Given the description of an element on the screen output the (x, y) to click on. 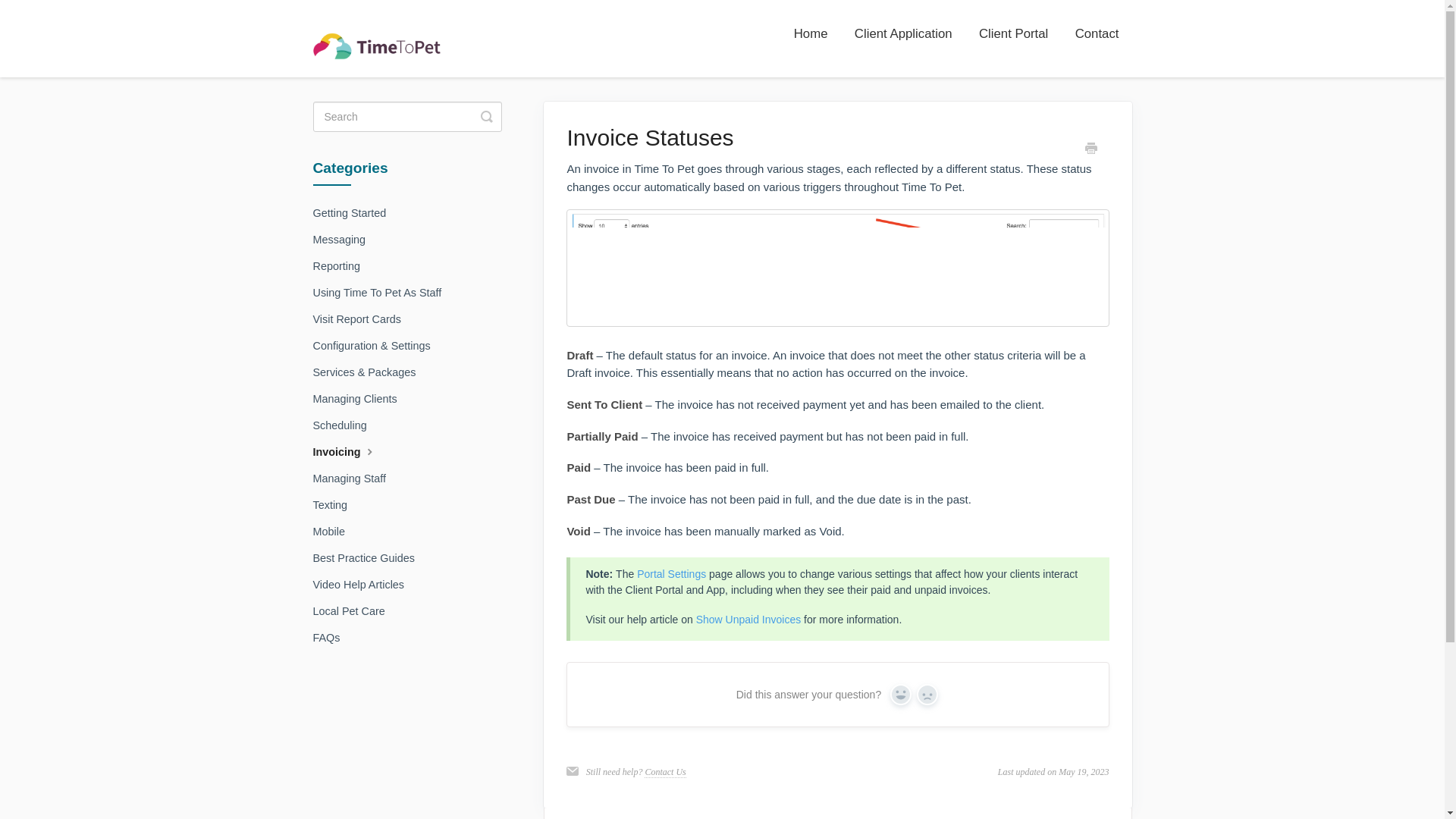
Visit Report Cards (362, 319)
Texting (335, 504)
Using Time To Pet As Staff (382, 292)
Client Application (903, 33)
Print this article (1090, 149)
Portal Settings (671, 573)
Show Unpaid Invoices (748, 619)
Messaging (345, 239)
Client Portal (1013, 33)
FAQs (331, 637)
Getting Started (355, 212)
Local Pet Care (354, 610)
Video Help Articles (363, 584)
Managing Staff (355, 478)
Scheduling (345, 425)
